Given the description of an element on the screen output the (x, y) to click on. 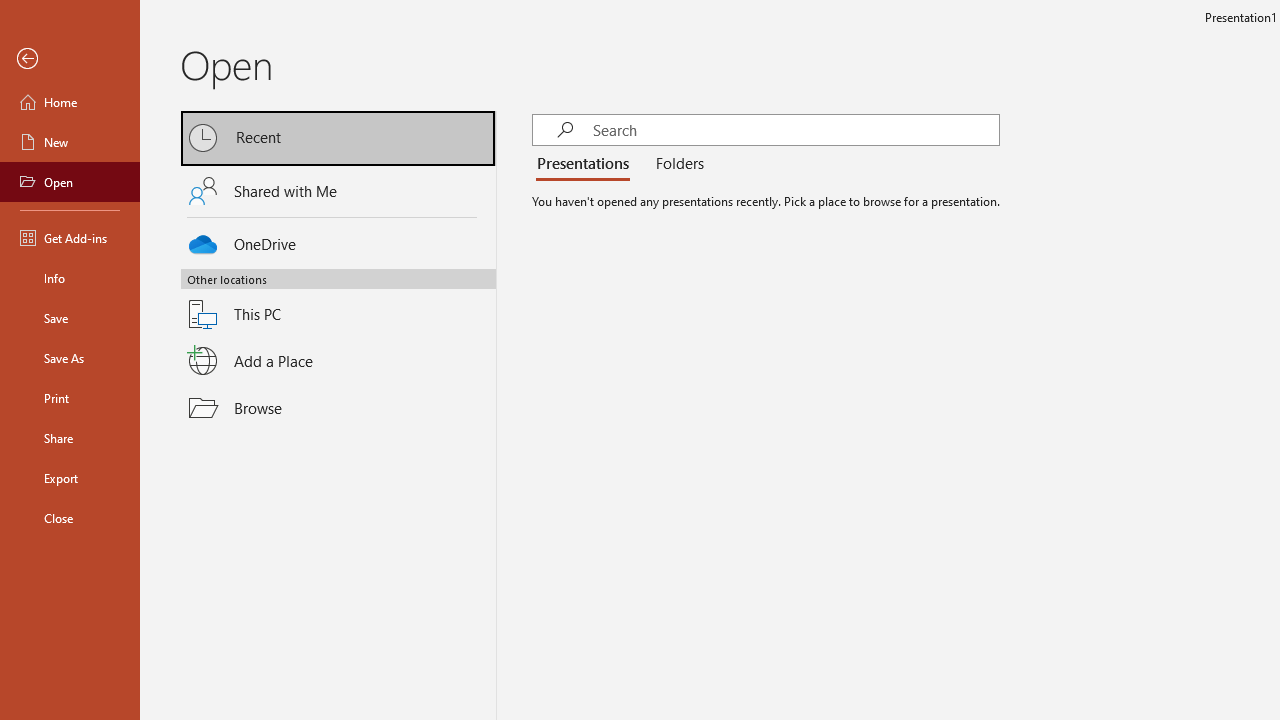
Back (69, 59)
Get Add-ins (69, 237)
Recent (338, 138)
Shared with Me (338, 191)
Info (69, 277)
